Given the description of an element on the screen output the (x, y) to click on. 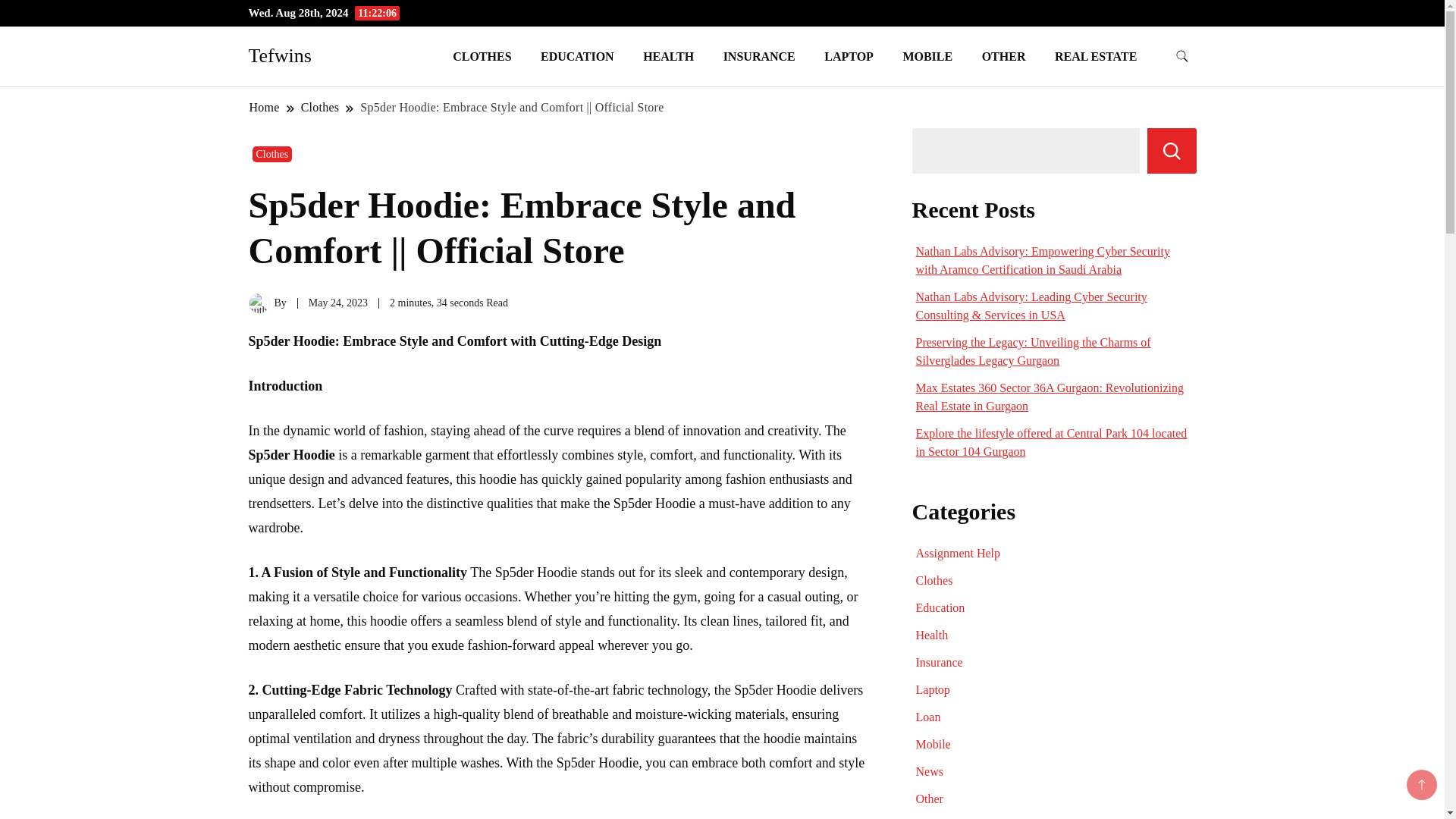
INSURANCE (759, 56)
REAL ESTATE (1096, 56)
Sp5der Hoodie (291, 454)
LAPTOP (848, 56)
Home (264, 106)
Tefwins (279, 55)
Clothes (271, 154)
Clothes (319, 106)
EDUCATION (577, 56)
OTHER (1004, 56)
